Given the description of an element on the screen output the (x, y) to click on. 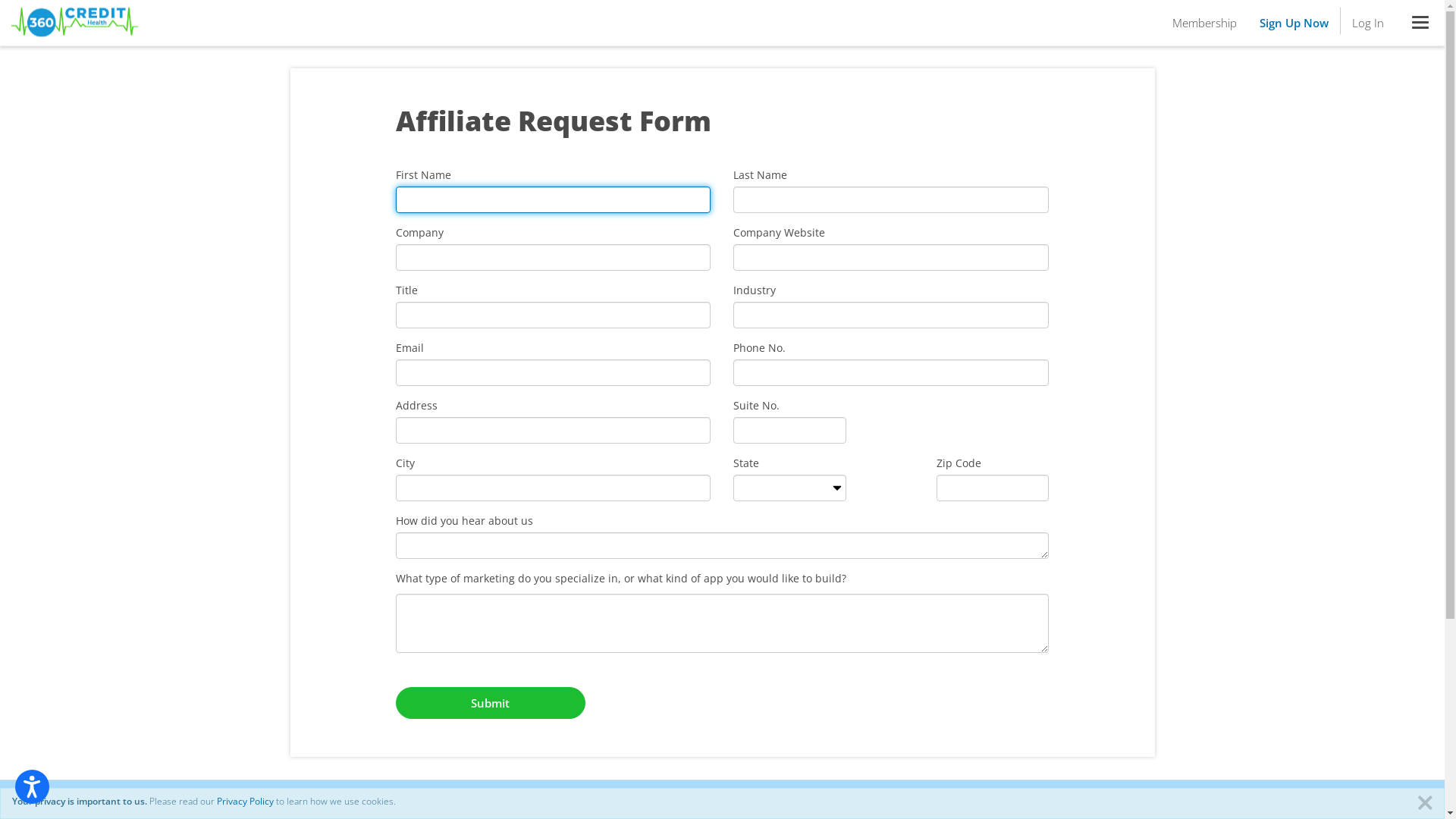
Log In Element type: text (1367, 22)
Membership Element type: text (1204, 22)
Affiliates Element type: text (309, 804)
Toggle navigation Element type: text (1420, 22)
Sign Up Now
(current) Element type: text (1293, 22)
Privacy Policy Element type: text (244, 800)
Submit Element type: text (490, 702)
